Given the description of an element on the screen output the (x, y) to click on. 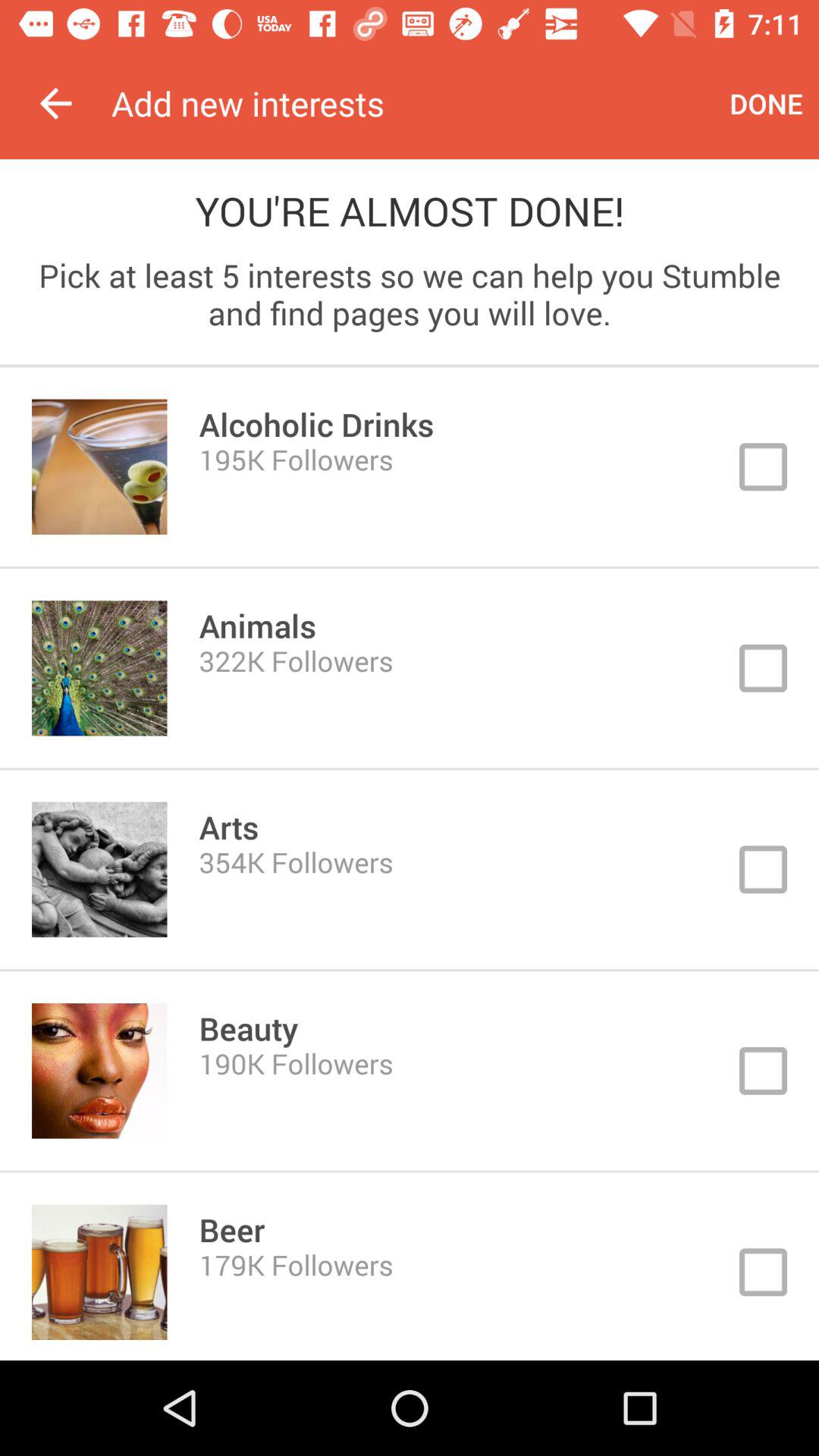
launch icon above the no data icon (55, 103)
